Given the description of an element on the screen output the (x, y) to click on. 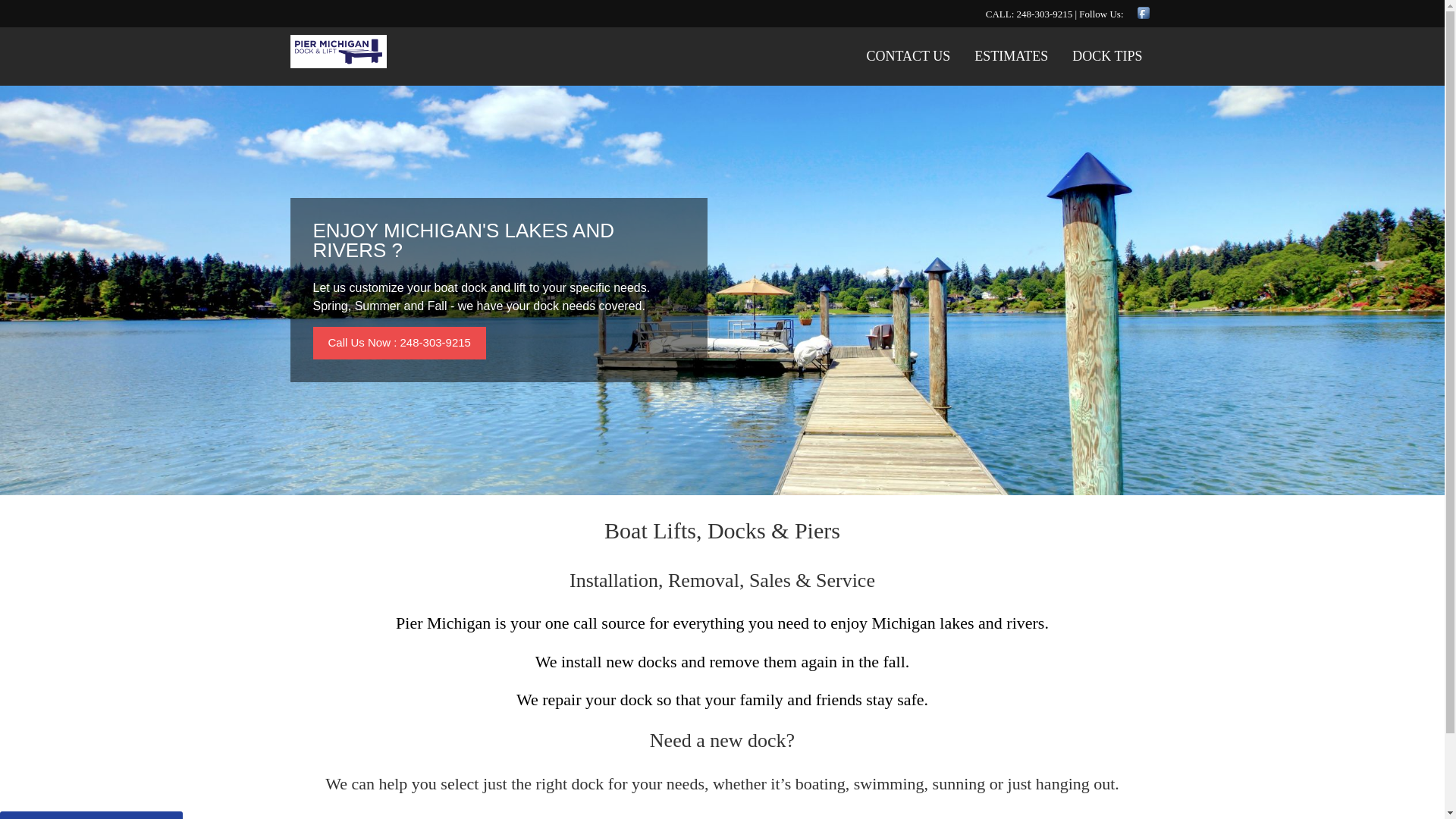
DOCK TIPS (1106, 56)
CONTACT US (908, 56)
Call Us Now : 248-303-9215 (398, 342)
Get an Estimate Today! (91, 815)
ESTIMATES (1010, 56)
